Given the description of an element on the screen output the (x, y) to click on. 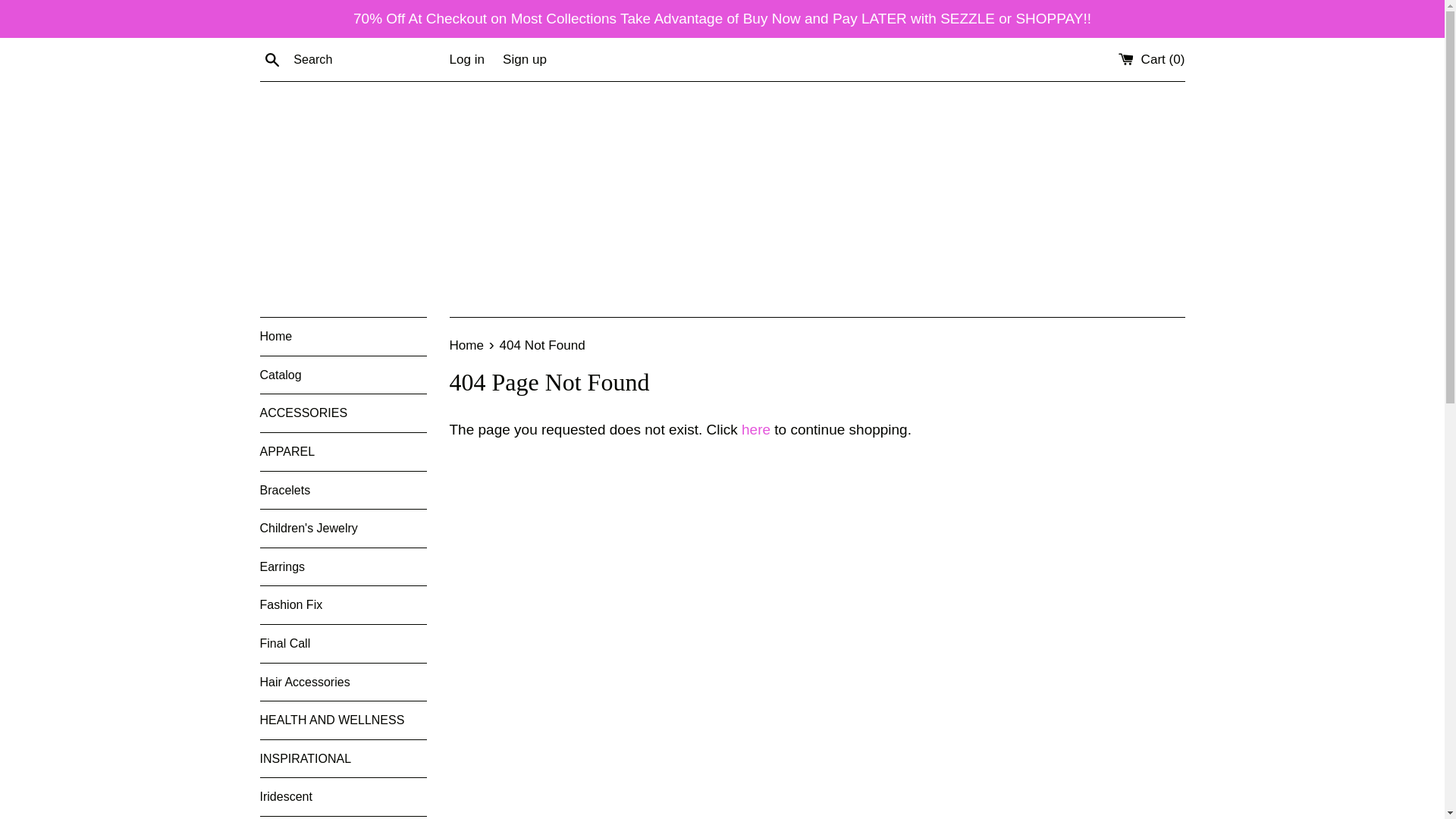
Search (271, 58)
Home (342, 336)
Fashion Fix (342, 605)
Sign up (524, 59)
Iridescent (342, 796)
Bracelets (342, 490)
Hair Accessories (342, 682)
INSPIRATIONAL (342, 759)
here (755, 429)
Children's Jewelry (342, 528)
Log in (466, 59)
Final Call (342, 643)
Catalog (342, 374)
HEALTH AND WELLNESS (342, 720)
Earrings (342, 566)
